Given the description of an element on the screen output the (x, y) to click on. 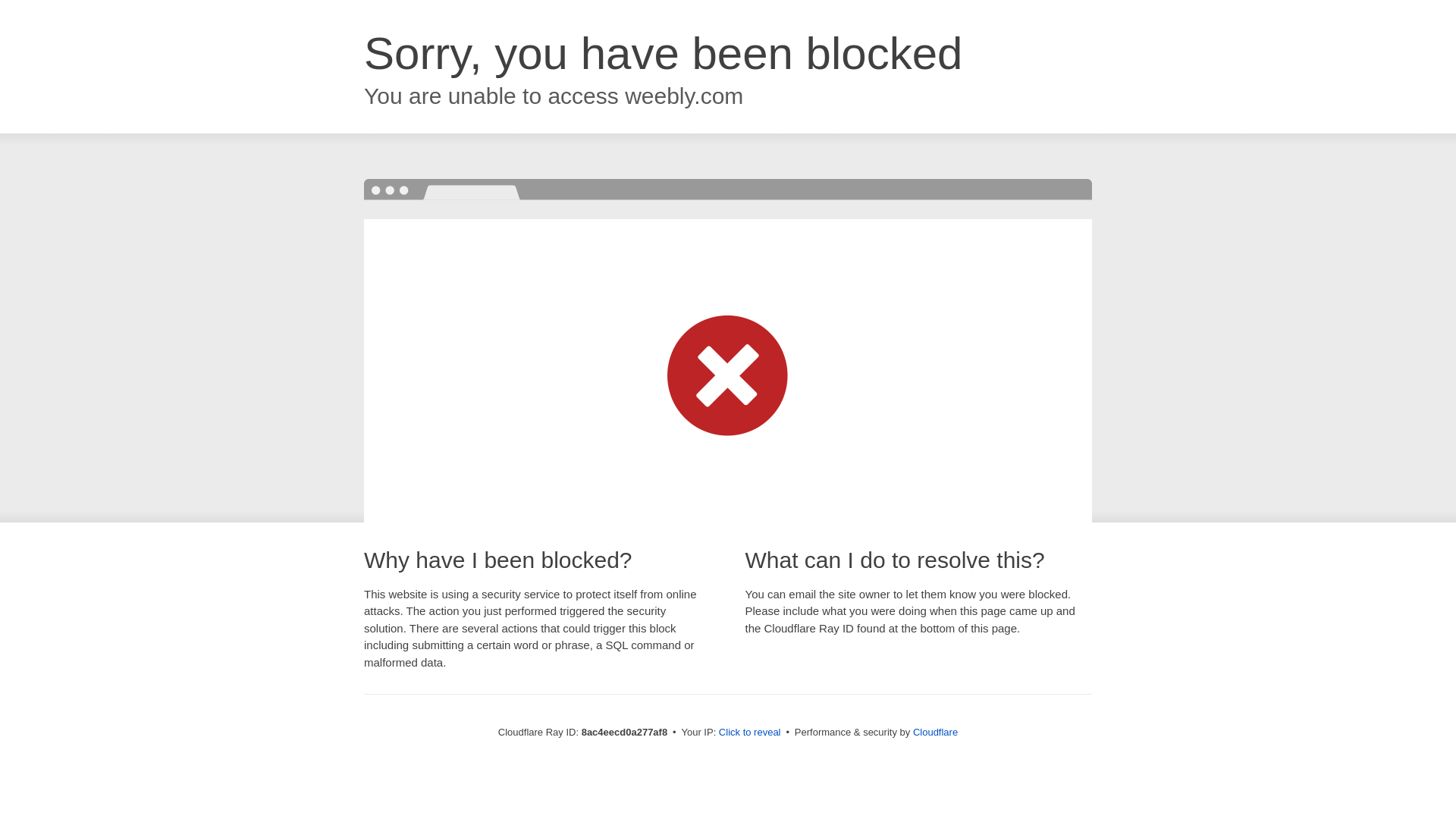
Cloudflare (935, 731)
Click to reveal (749, 732)
